Given the description of an element on the screen output the (x, y) to click on. 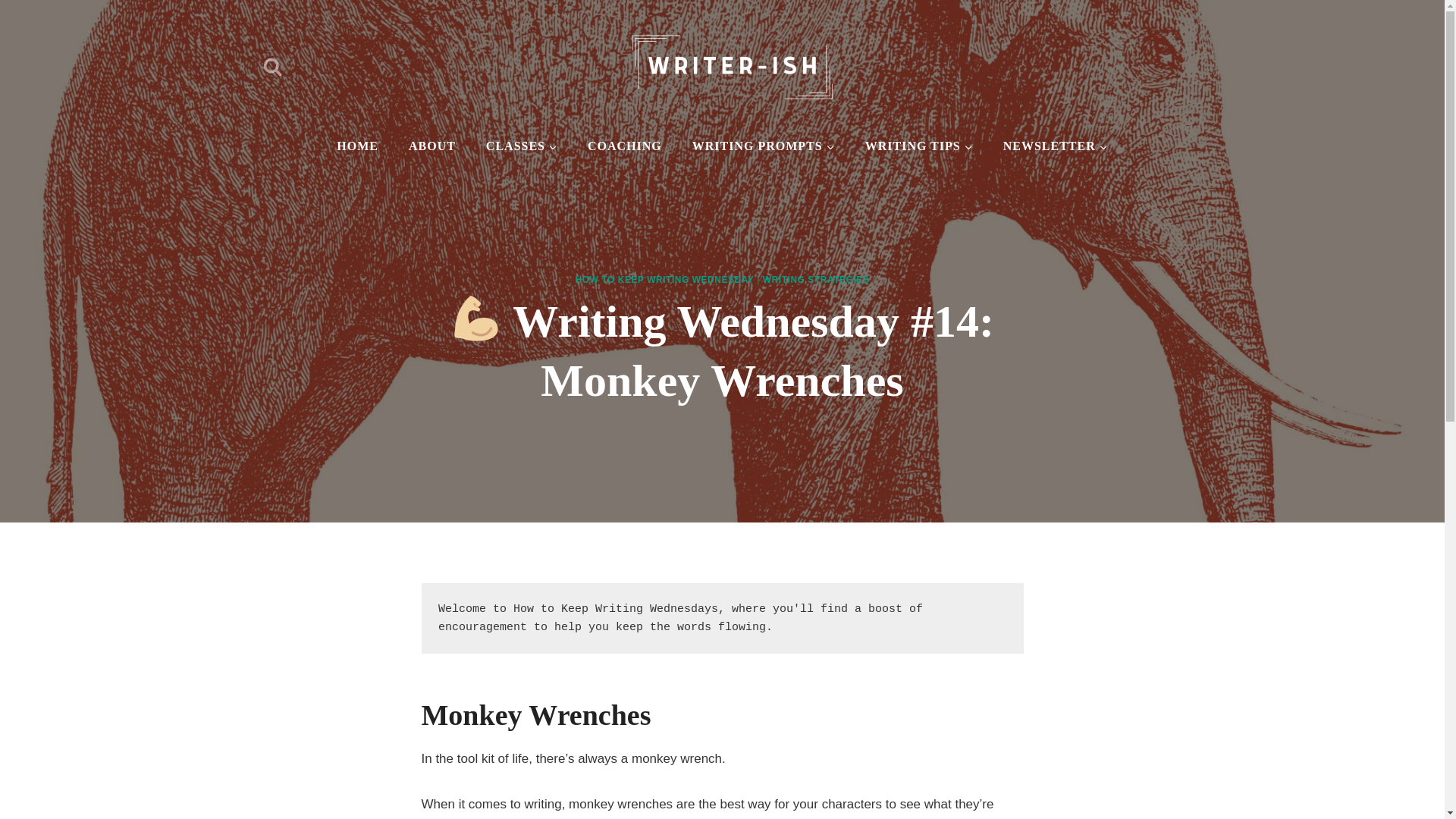
COACHING (624, 146)
HOME (357, 146)
WRITING PROMPTS (763, 146)
WRITING TIPS (919, 146)
CLASSES (521, 146)
ABOUT (431, 146)
HOW TO KEEP WRITING WEDNESDAY (664, 279)
WRITING STRATEGIES (815, 279)
NEWSLETTER (1055, 146)
